Given the description of an element on the screen output the (x, y) to click on. 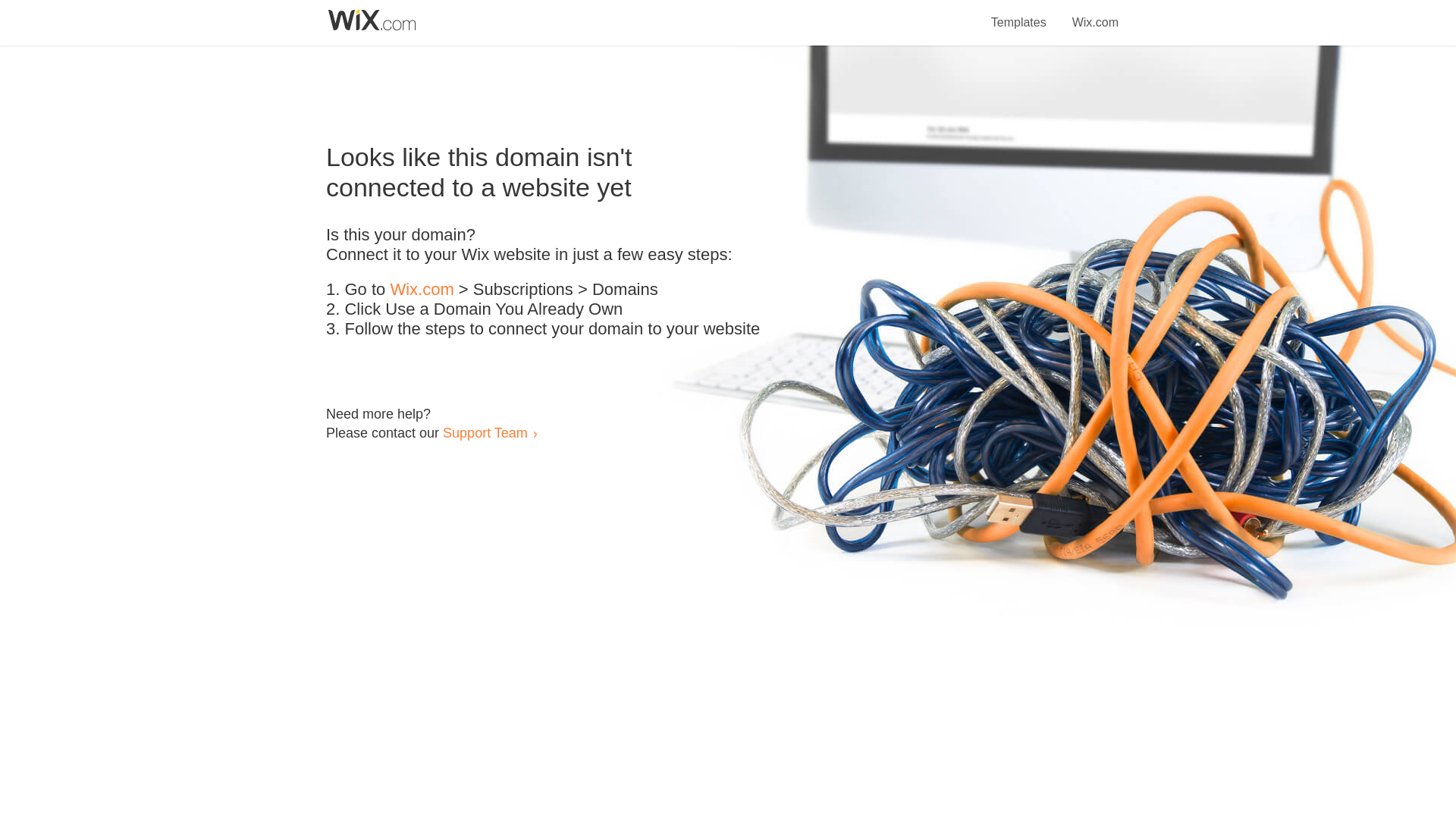
Templates (1018, 14)
Wix.com (1095, 14)
Support Team (484, 432)
Wix.com (421, 289)
